Given the description of an element on the screen output the (x, y) to click on. 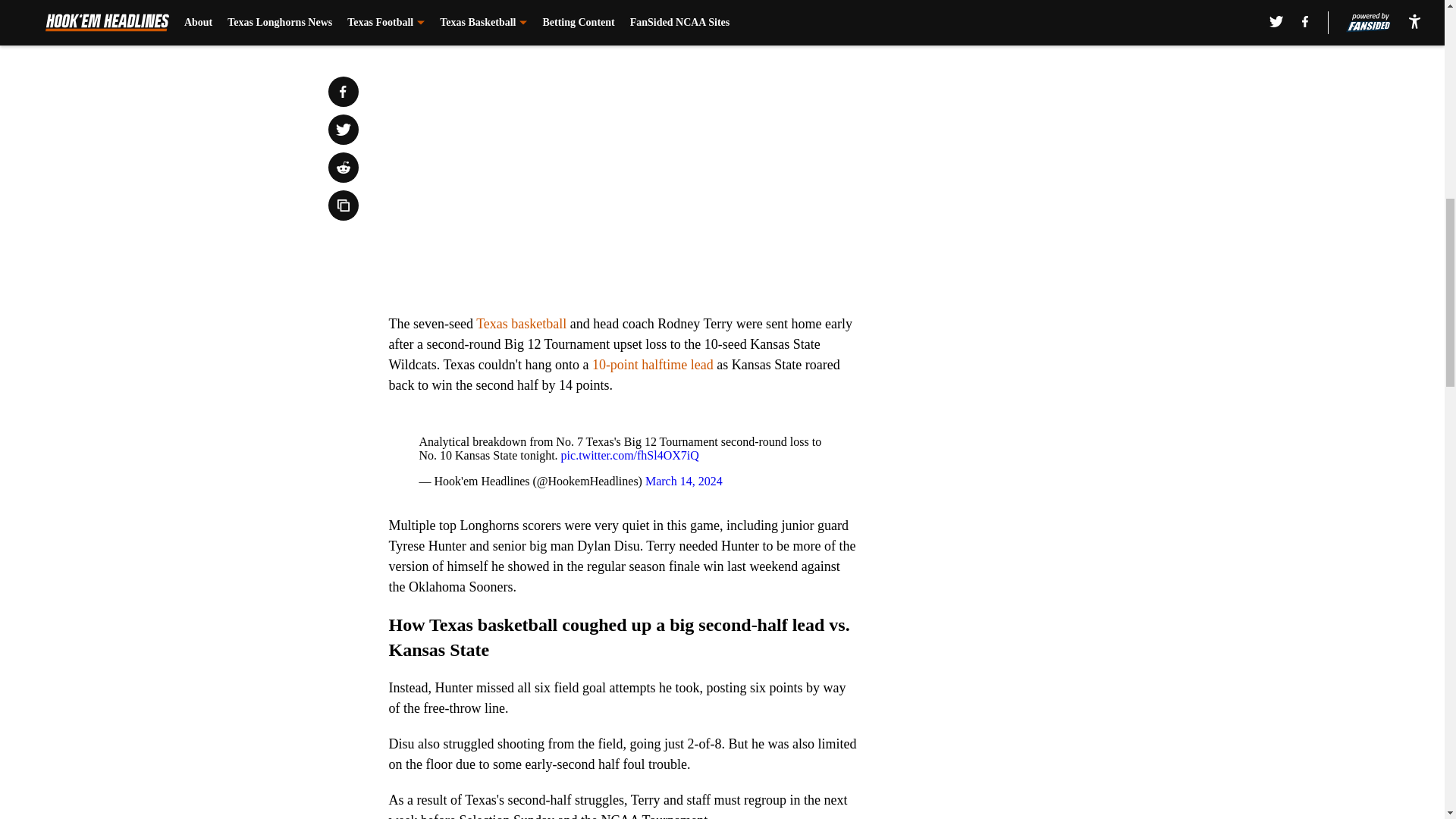
10-point halftime lead (652, 364)
Texas basketball (521, 323)
March 14, 2024 (683, 481)
